Given the description of an element on the screen output the (x, y) to click on. 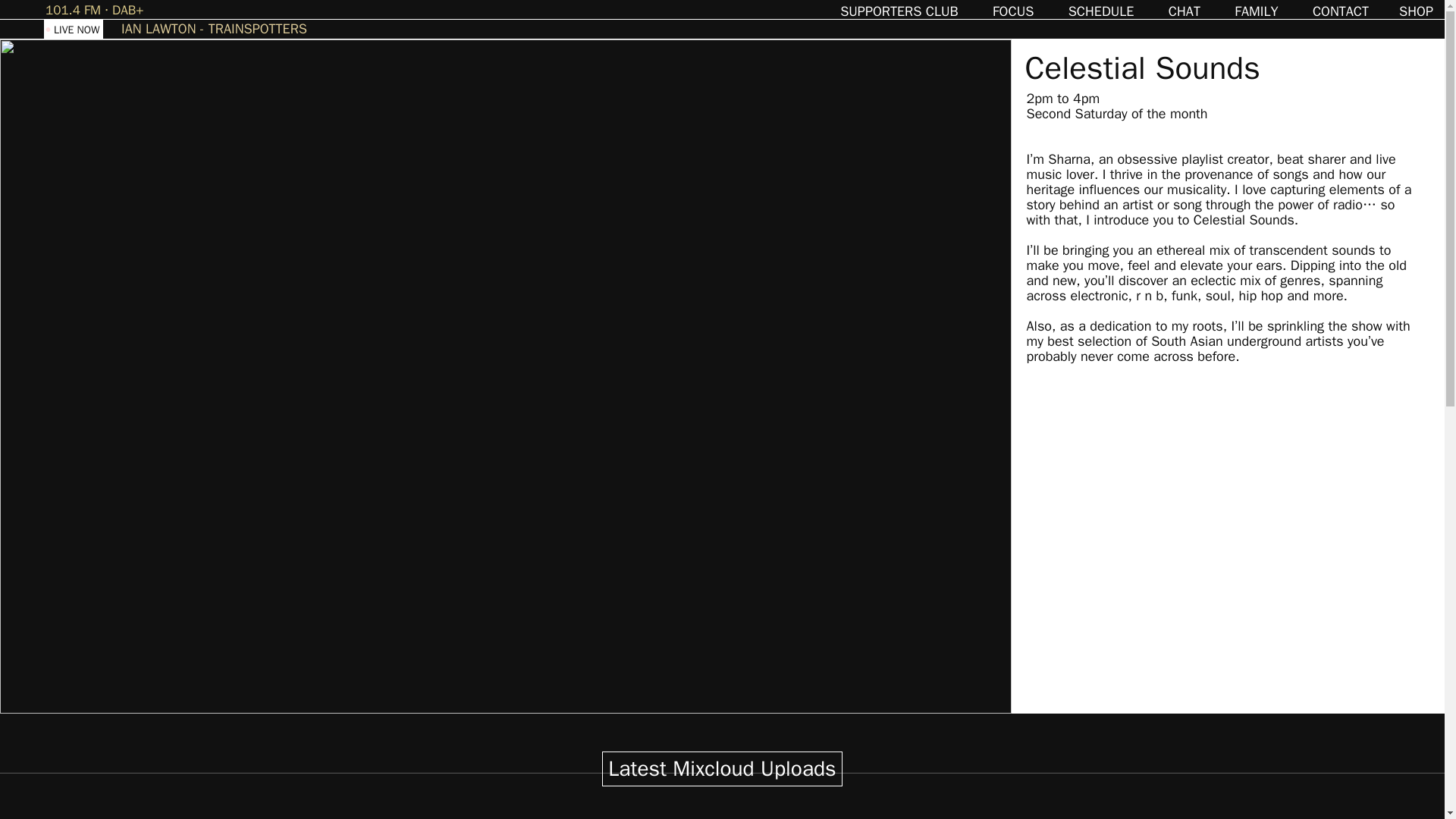
CONTACT (1340, 11)
SUPPORTERS CLUB (899, 11)
FOCUS (1012, 11)
SCHEDULE (1101, 11)
CHAT (1184, 11)
FAMILY (1256, 11)
